Given the description of an element on the screen output the (x, y) to click on. 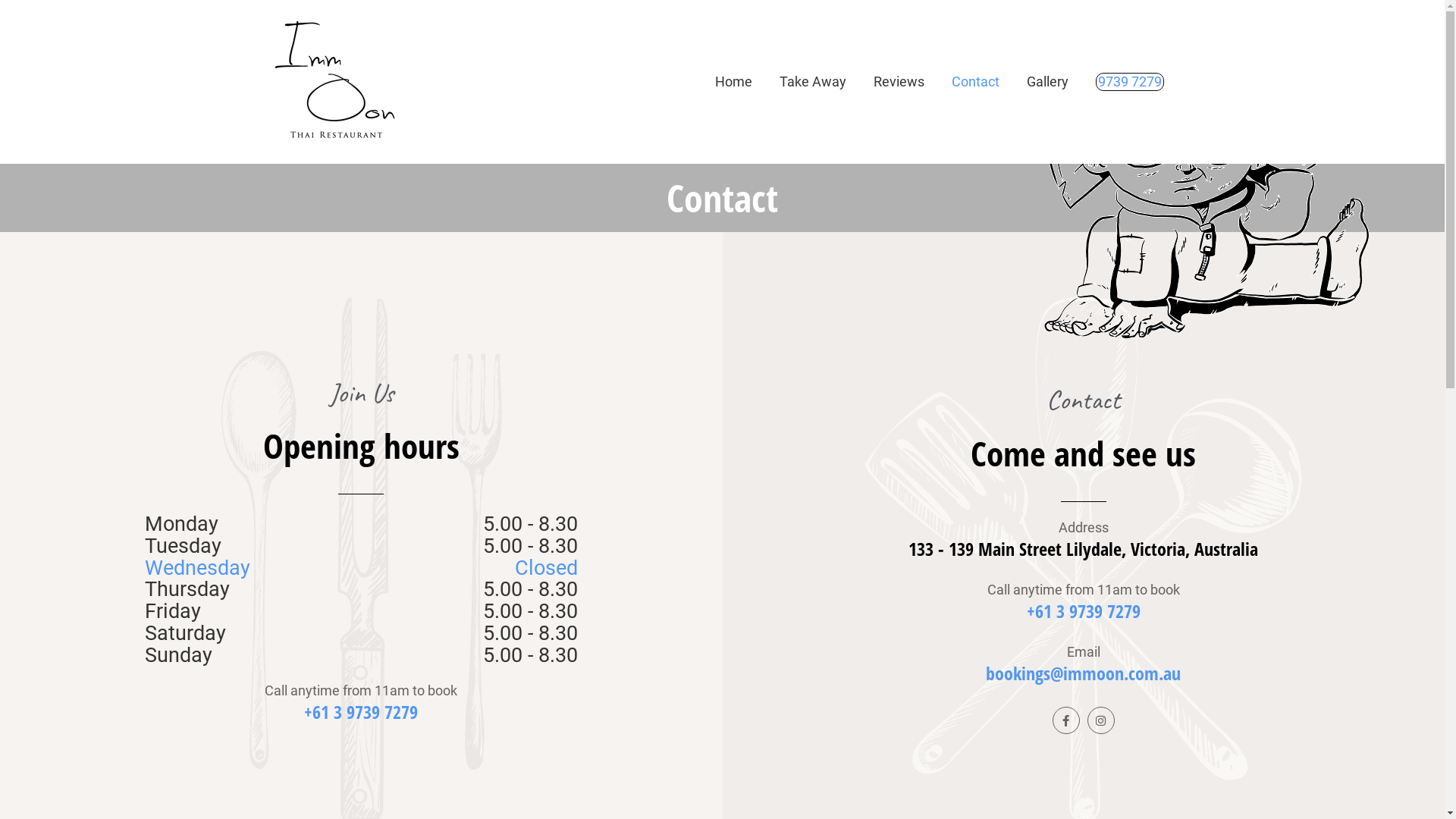
Contact Element type: text (974, 81)
Reviews Element type: text (898, 81)
Instagram Element type: text (1100, 720)
Home Element type: text (732, 81)
Gallery Element type: text (1047, 81)
bookings@immoon.com.au Element type: text (1082, 672)
+61 3 9739 7279 Element type: text (360, 711)
9739 7279 Element type: text (1129, 81)
Facebook-f Element type: text (1065, 720)
Take Away Element type: text (812, 81)
+61 3 9739 7279 Element type: text (1083, 610)
